Given the description of an element on the screen output the (x, y) to click on. 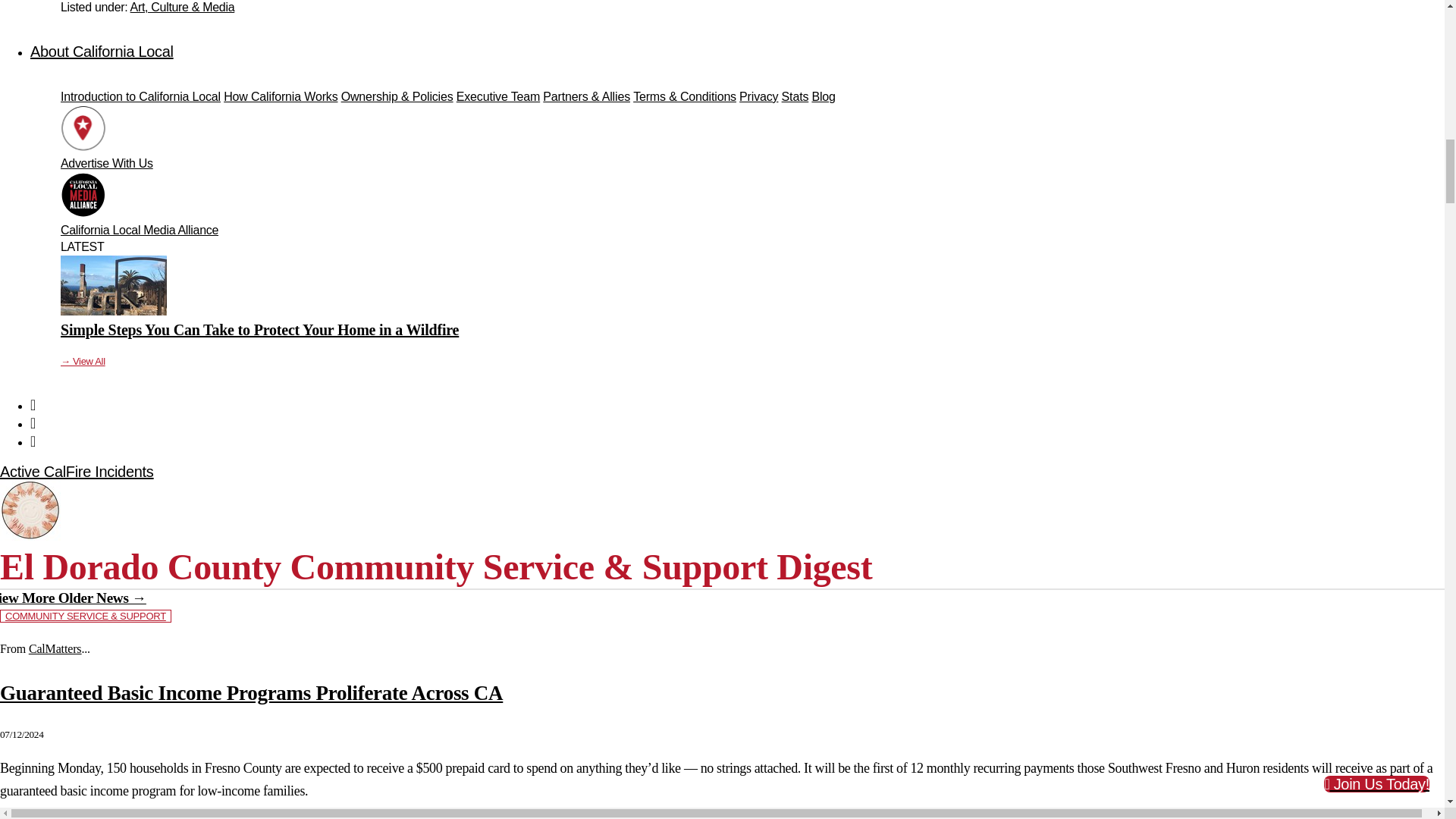
All about California Local. (101, 51)
Click for more information. (76, 471)
